Given the description of an element on the screen output the (x, y) to click on. 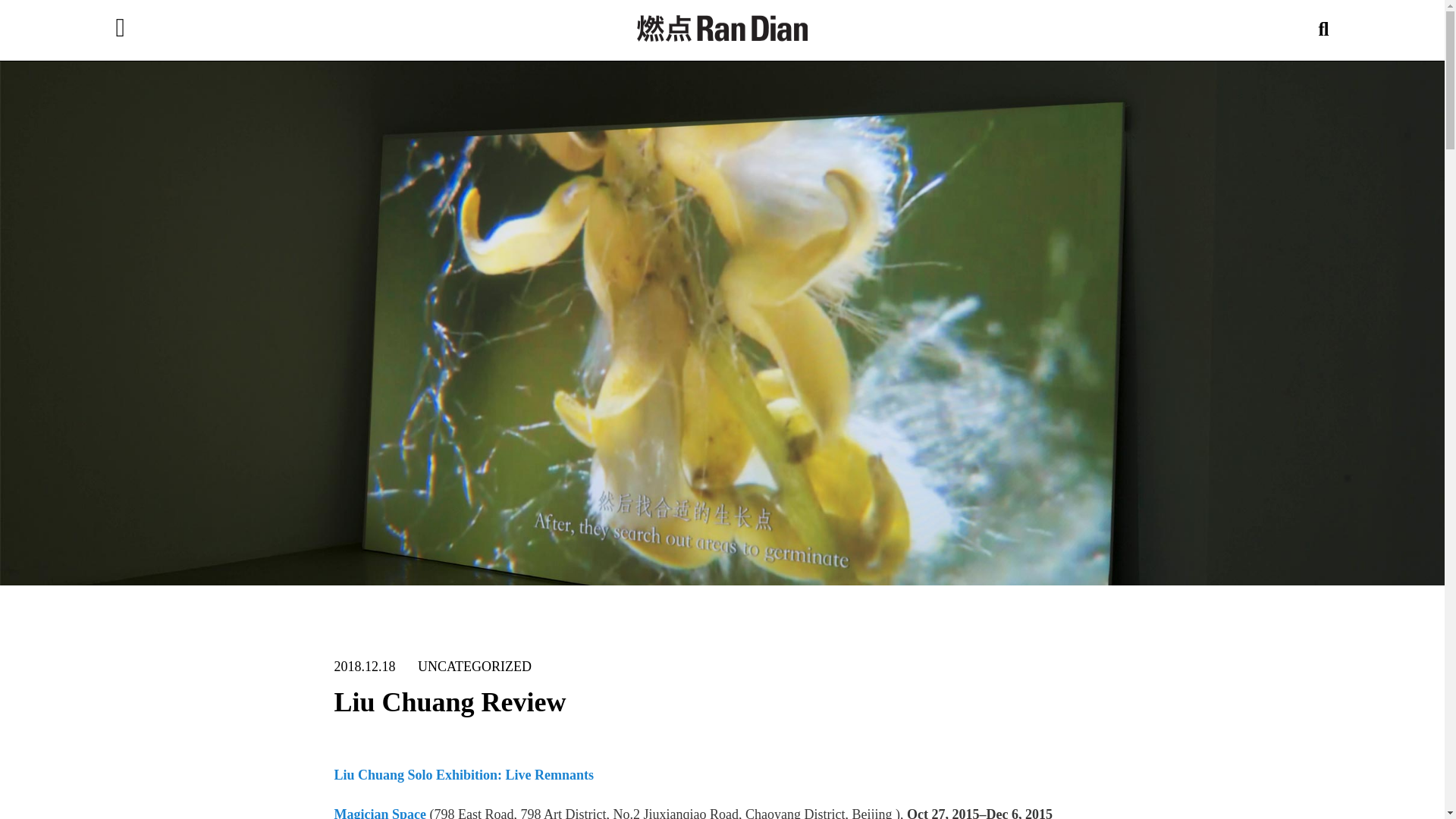
Liu Chuang Solo Exhibition: Live Remnants (463, 774)
2018.12.18 (363, 666)
Magician Space (379, 812)
9:35 am (363, 666)
